Given the description of an element on the screen output the (x, y) to click on. 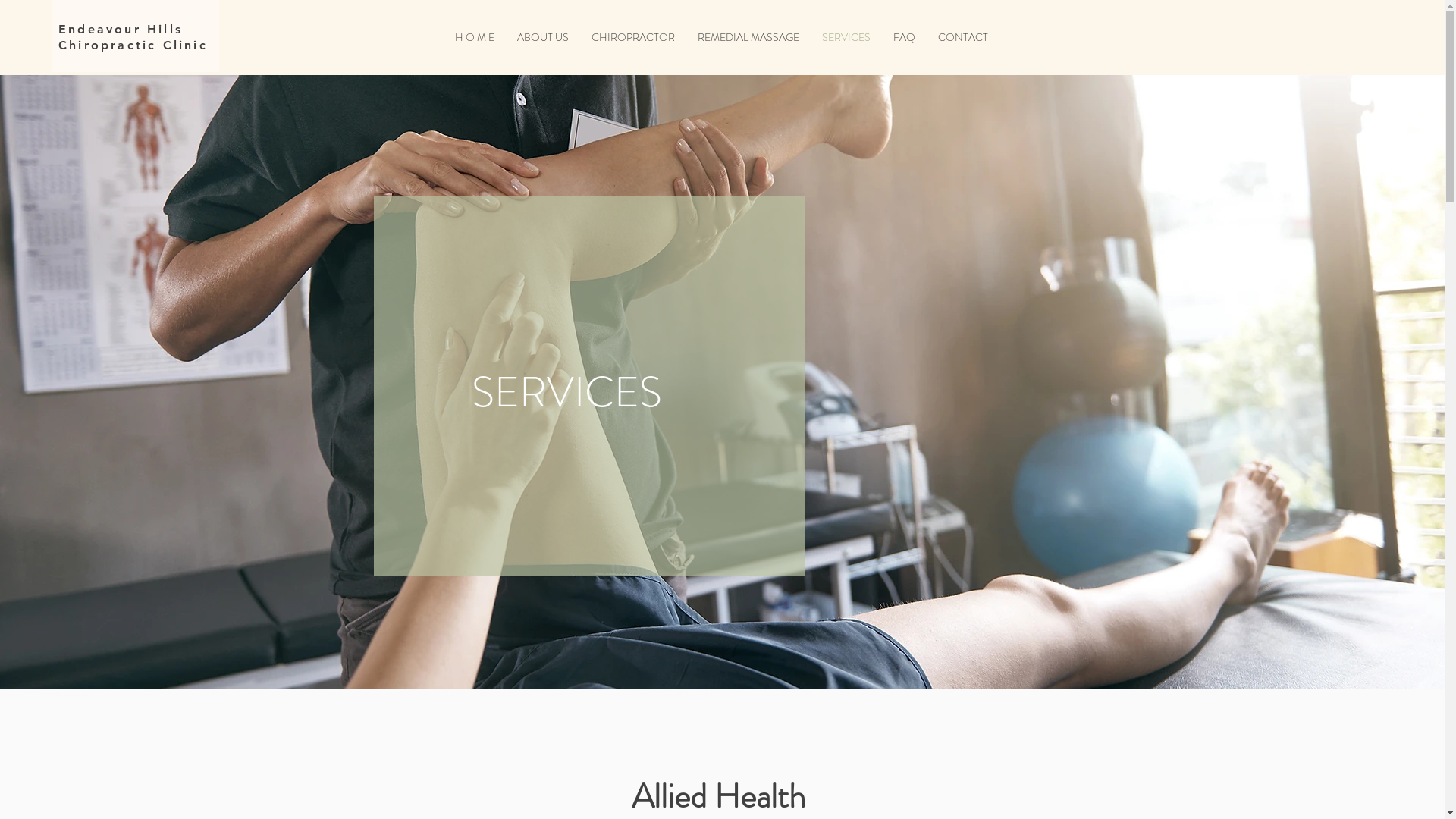
SERVICES Element type: text (845, 37)
H O M E Element type: text (474, 37)
FAQ Element type: text (903, 37)
REMEDIAL MASSAGE Element type: text (748, 37)
ABOUT US Element type: text (542, 37)
CONTACT Element type: text (962, 37)
CHIROPRACTOR Element type: text (633, 37)
Endeavour Hills Element type: text (120, 28)
